Given the description of an element on the screen output the (x, y) to click on. 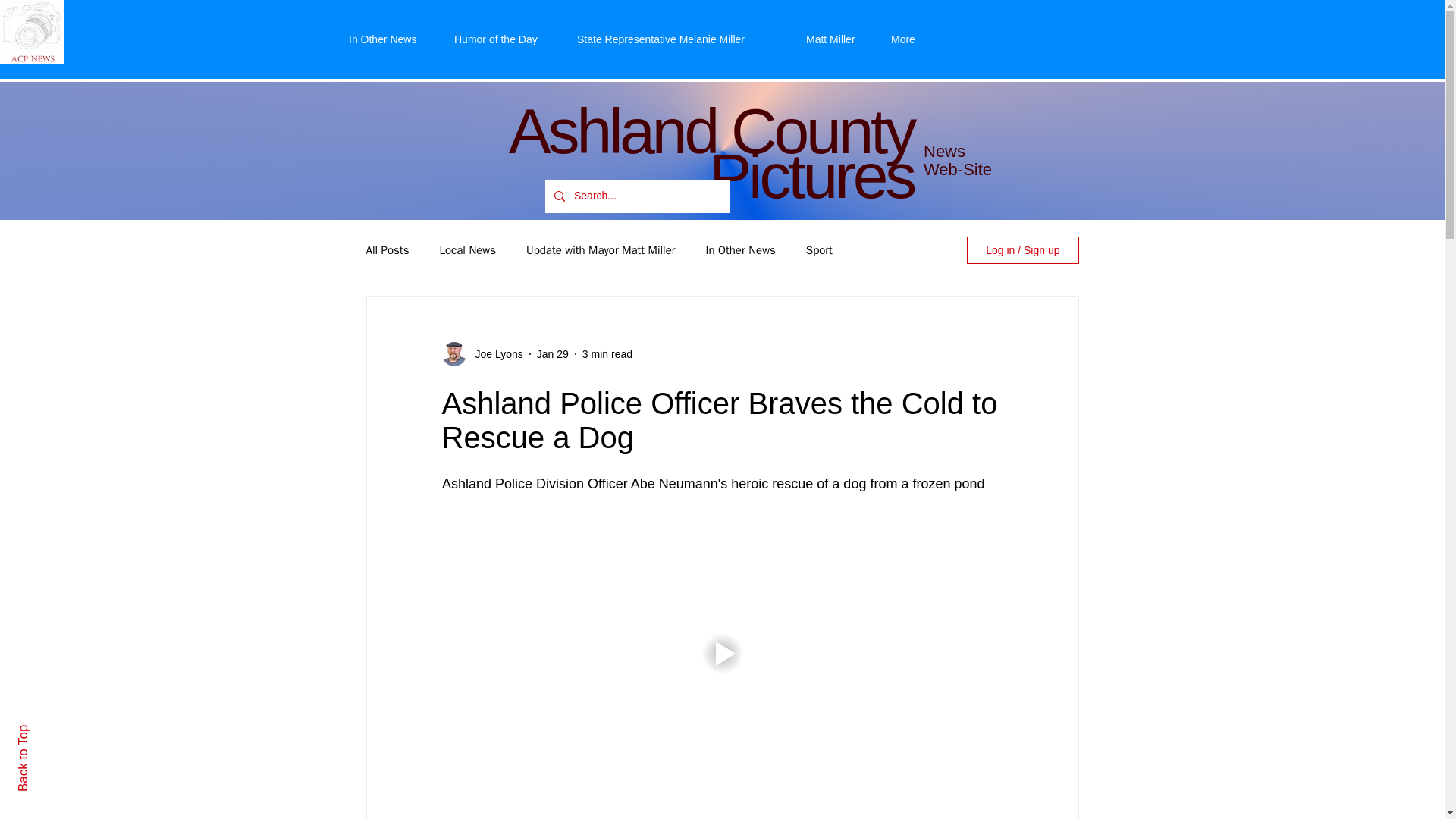
In Other News (741, 249)
Update with Mayor Matt Miller (600, 249)
Jan 29 (553, 353)
In Other News (389, 39)
All Posts (387, 249)
3 min read (606, 353)
Local News (467, 249)
Sport (819, 249)
Ashland County Pictures (711, 153)
State Representative Melanie Miller (680, 39)
